Given the description of an element on the screen output the (x, y) to click on. 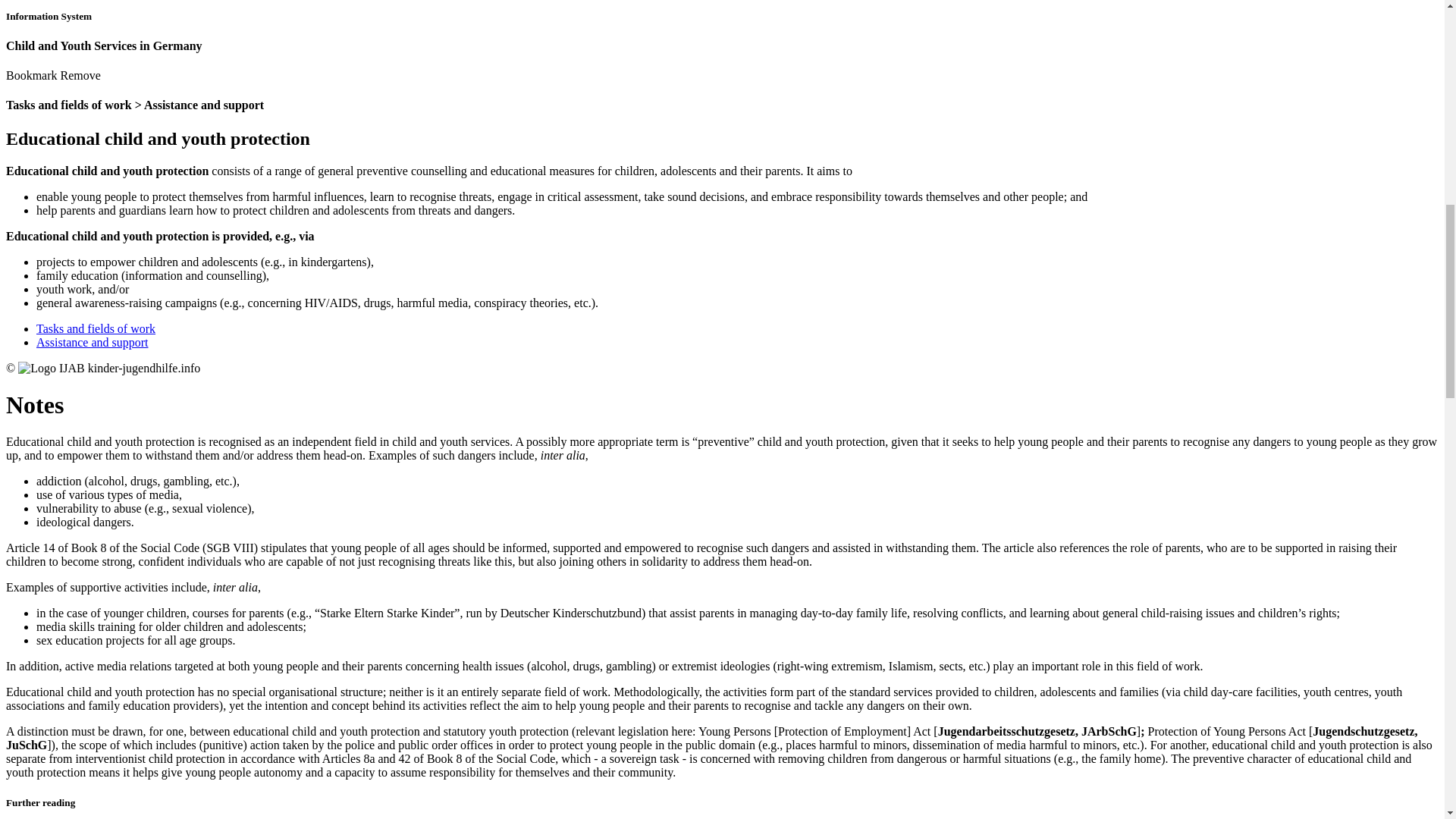
Assistance and support (501, 191)
Logo IJAB (1012, 190)
Tasks and fields of work (384, 191)
